Given the description of an element on the screen output the (x, y) to click on. 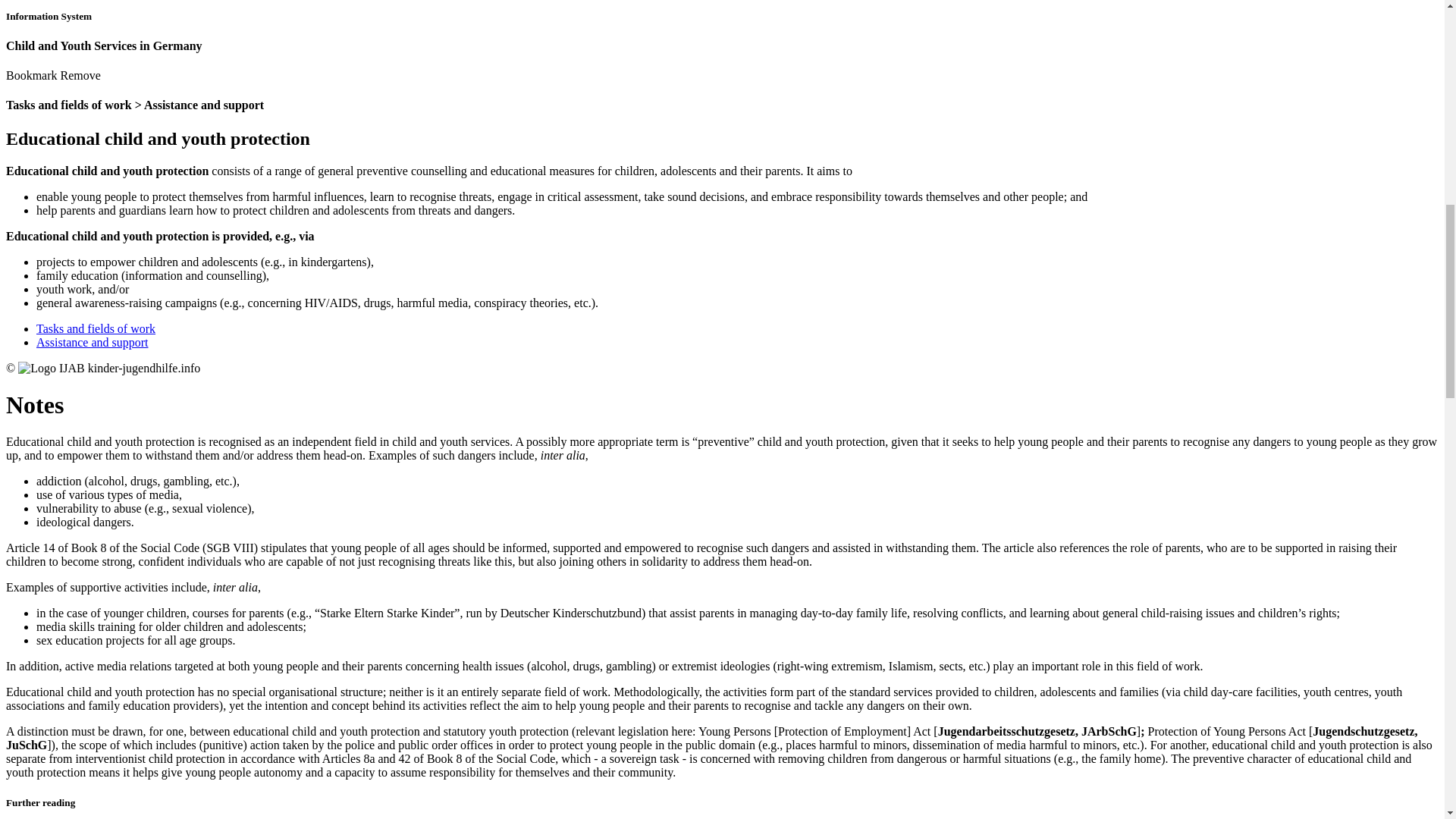
Assistance and support (501, 191)
Logo IJAB (1012, 190)
Tasks and fields of work (384, 191)
